Given the description of an element on the screen output the (x, y) to click on. 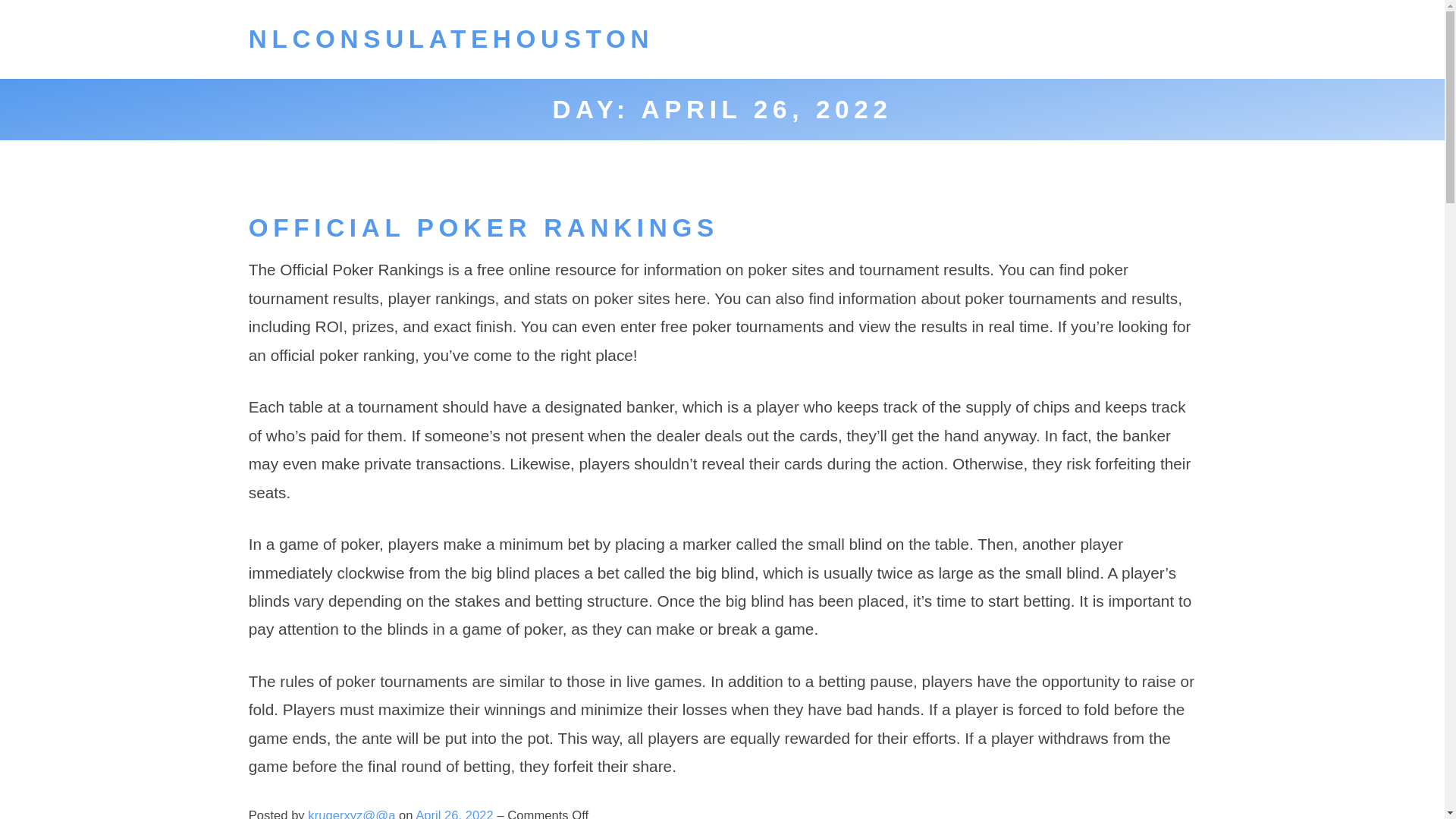
April 26, 2022 (455, 813)
OFFICIAL POKER RANKINGS (483, 227)
NLCONSULATEHOUSTON (450, 39)
